Given the description of an element on the screen output the (x, y) to click on. 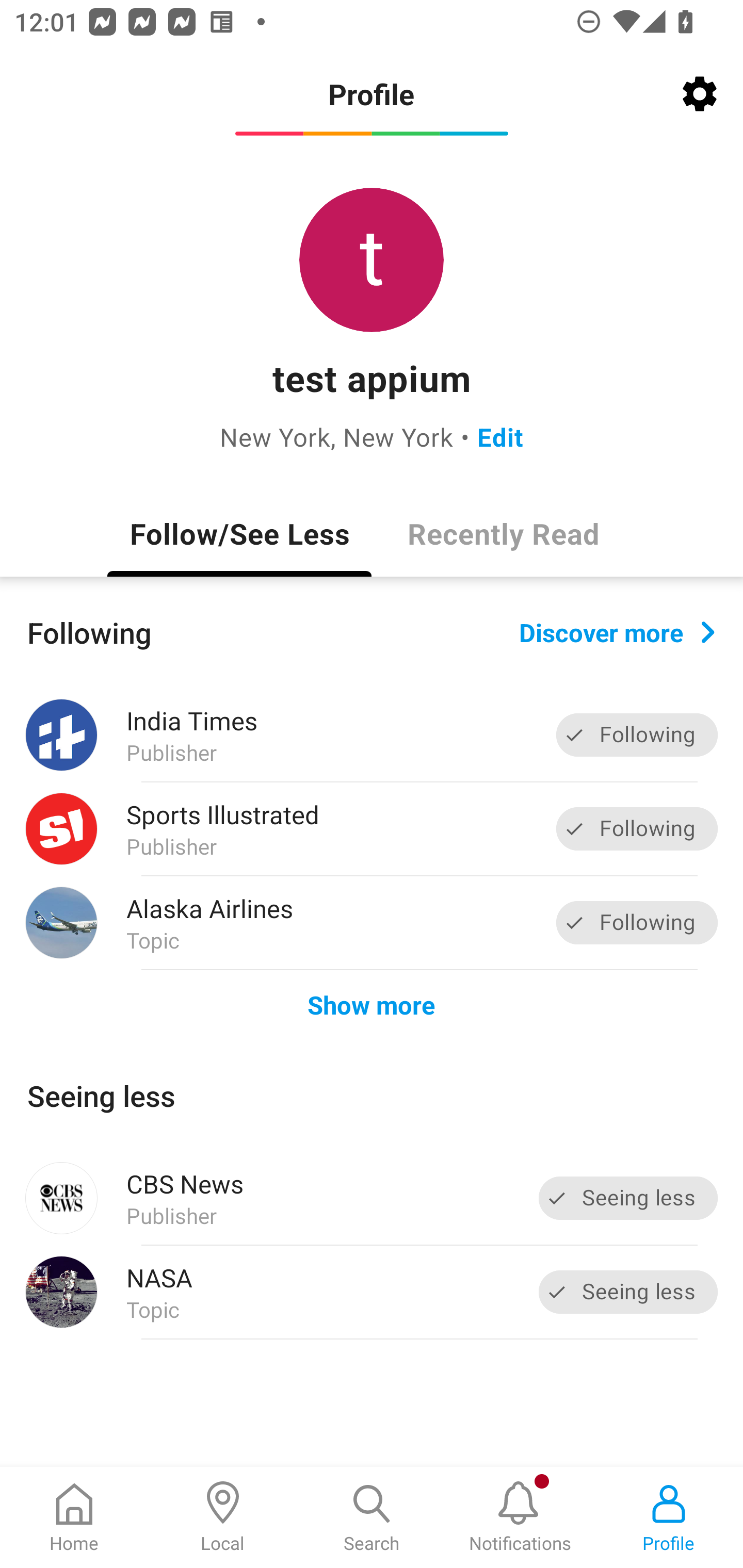
Settings (699, 93)
Edit (500, 436)
Recently Read (503, 533)
Discover more (617, 631)
India Times Publisher Following (371, 735)
Following (636, 735)
Sports Illustrated Publisher Following (371, 829)
Following (636, 828)
Alaska Airlines Topic Following (371, 922)
Following (636, 922)
Show more (371, 1004)
CBS News Publisher Seeing less (371, 1197)
Seeing less (627, 1197)
NASA Topic Seeing less (371, 1291)
Seeing less (627, 1291)
Home (74, 1517)
Local (222, 1517)
Search (371, 1517)
Notifications, New notification Notifications (519, 1517)
